Given the description of an element on the screen output the (x, y) to click on. 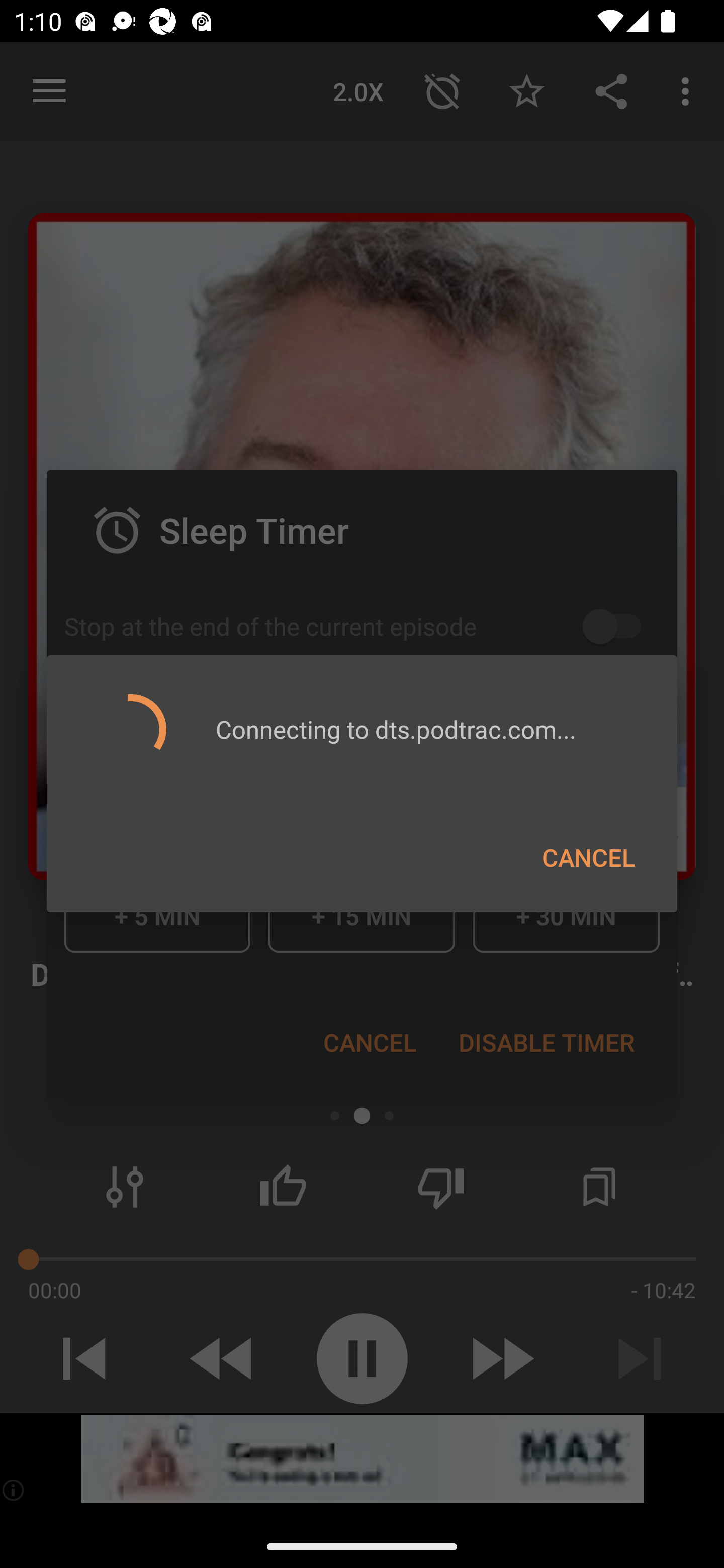
CANCEL (587, 857)
